Given the description of an element on the screen output the (x, y) to click on. 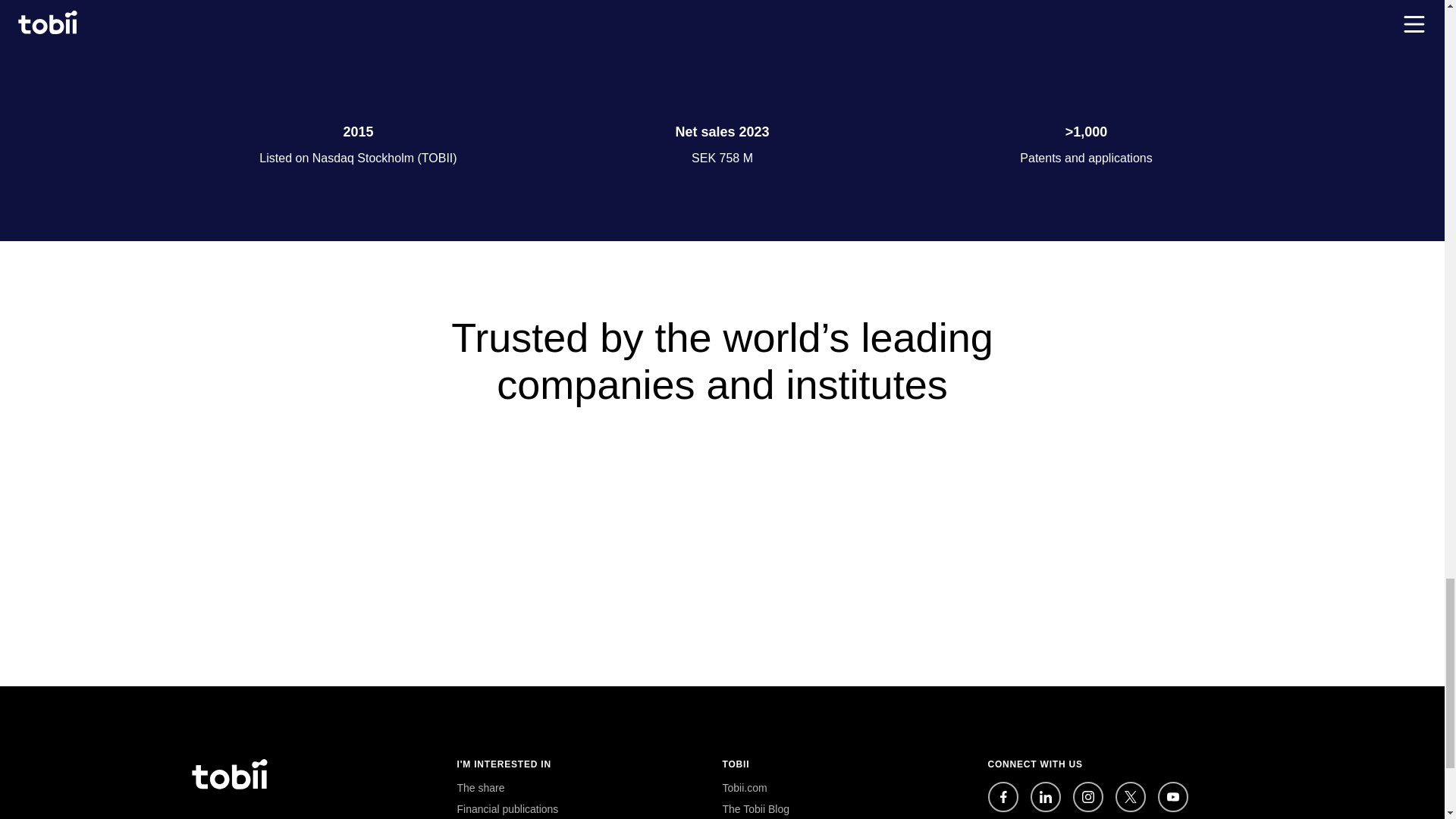
Tobii on Instagram (1086, 797)
Tobii on Facebook (1002, 797)
Financial publications (507, 808)
Tobii on Linkedin (1044, 797)
Tobii on Twitter (1129, 797)
The share (480, 787)
Tobii on Youtube (1172, 797)
The Tobii Blog (755, 808)
Tobii.com (744, 787)
